Given the description of an element on the screen output the (x, y) to click on. 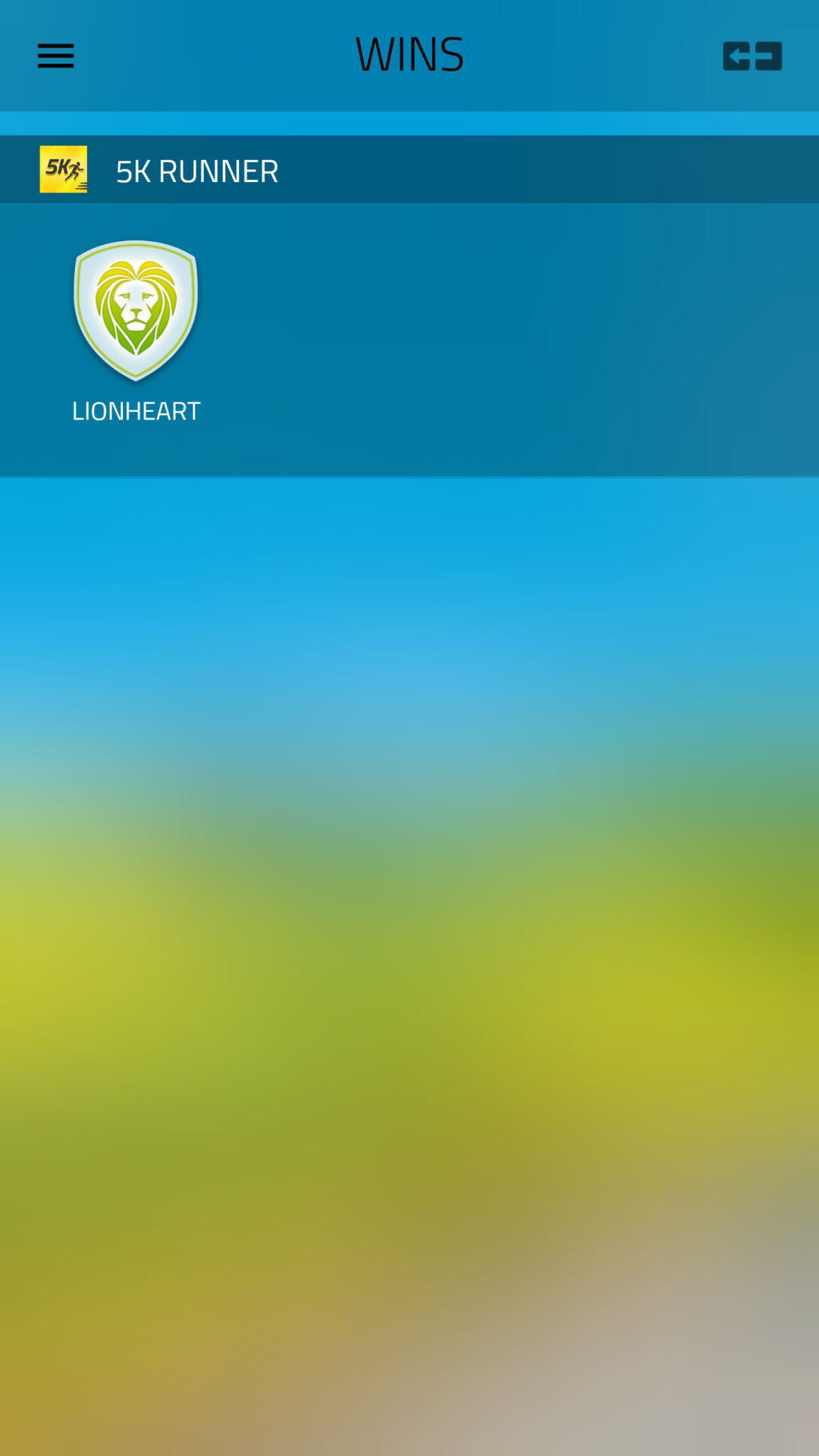
select item next to wins icon (752, 55)
